Given the description of an element on the screen output the (x, y) to click on. 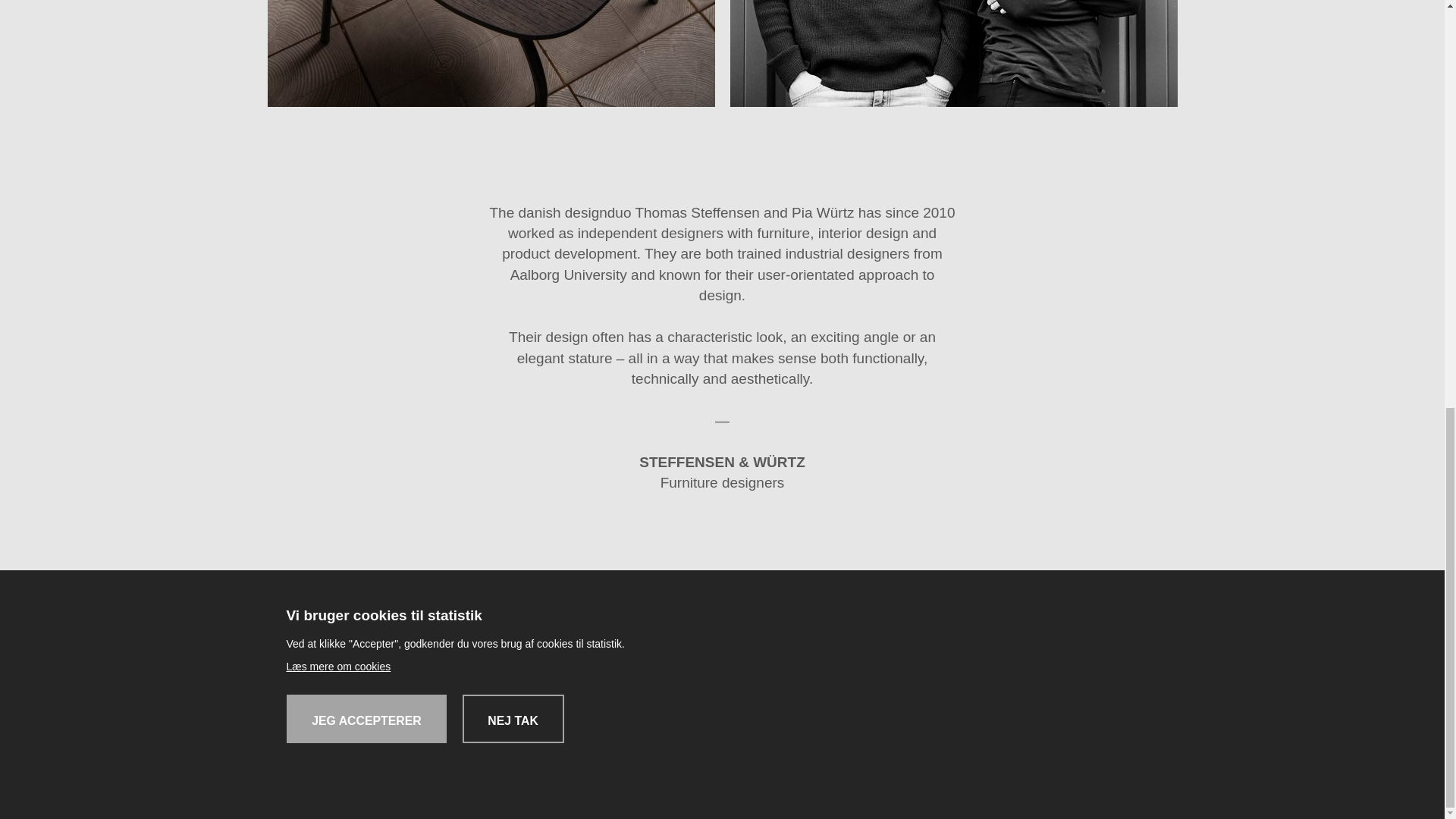
RETAILERS (731, 597)
ABOUT US (818, 597)
MAINTENANCE (619, 626)
COOKIE- AND PRIVACY POLICY (777, 626)
PRODUCTS (546, 597)
CONTACT (901, 597)
DESIGNERS (639, 597)
